Given the description of an element on the screen output the (x, y) to click on. 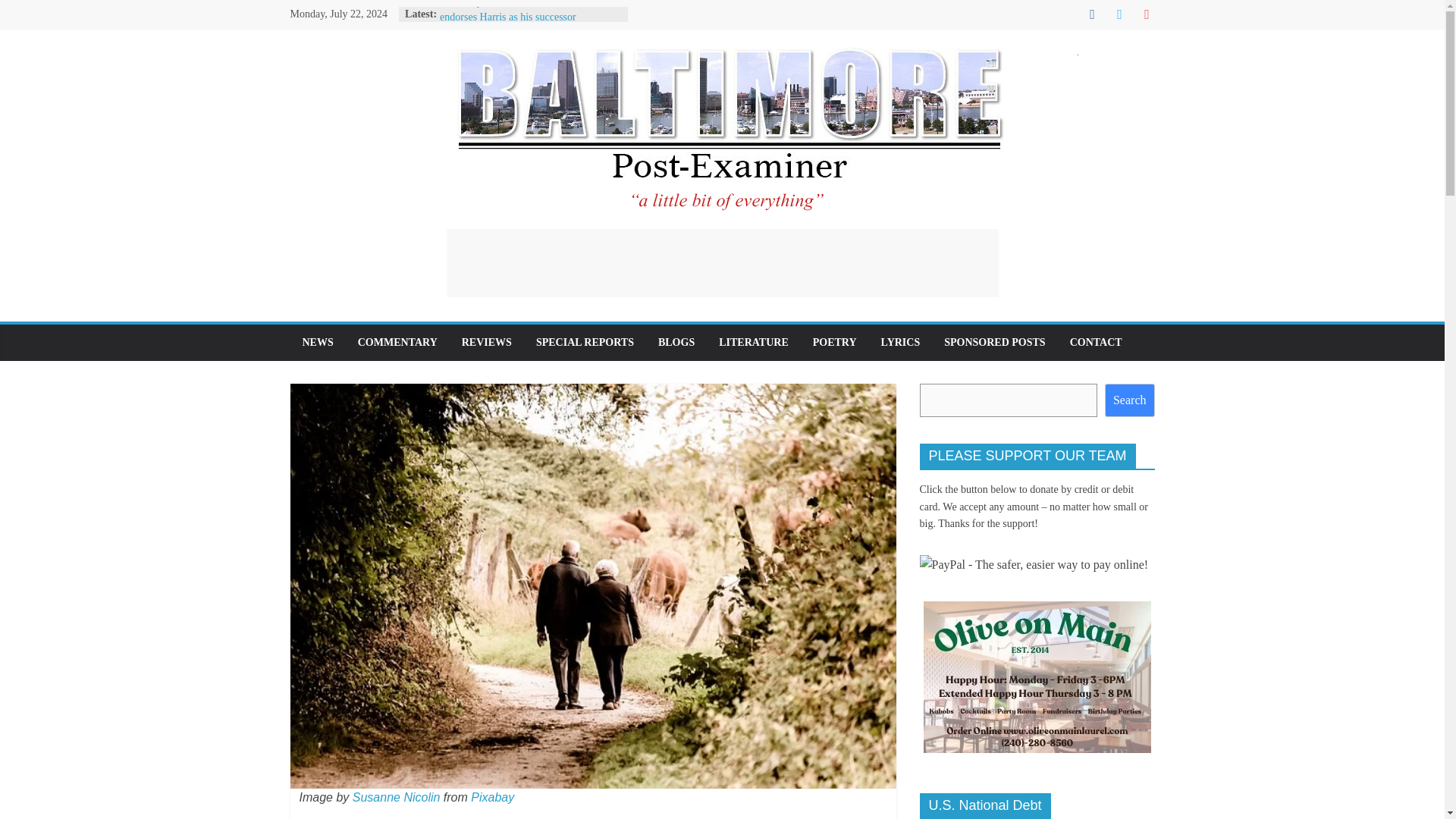
COMMENTARY (397, 342)
SPECIAL REPORTS (585, 342)
SPONSORED POSTS (994, 342)
REVIEWS (486, 342)
NEWS (317, 342)
CONTACT (1096, 342)
Search (1129, 400)
LITERATURE (753, 342)
BLOGS (676, 342)
LYRICS (901, 342)
POETRY (834, 342)
Advertisement (721, 263)
Susanne Nicolin (396, 797)
